Given the description of an element on the screen output the (x, y) to click on. 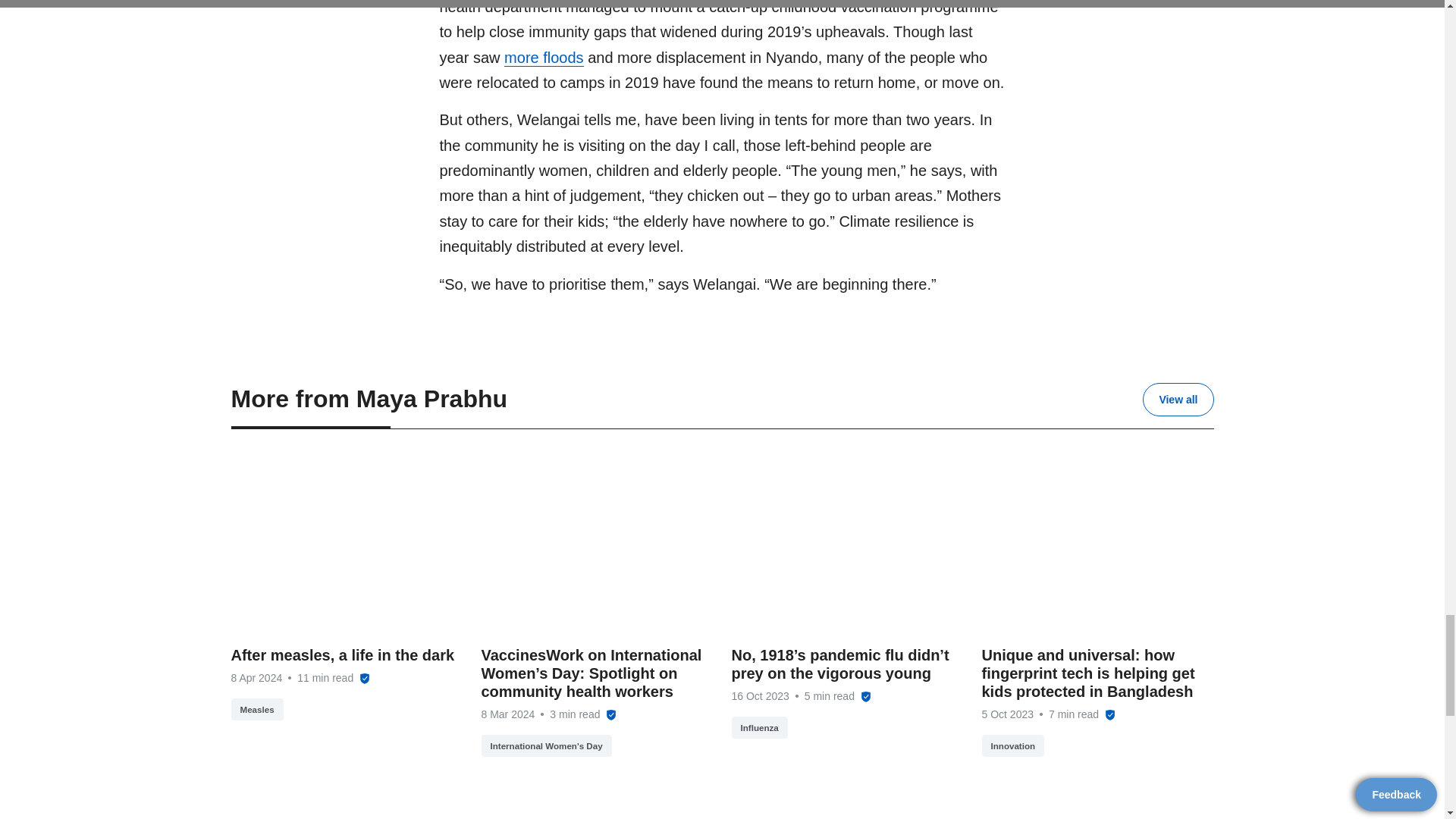
verified (610, 715)
verified (865, 696)
verified (364, 678)
verified (1110, 715)
